Given the description of an element on the screen output the (x, y) to click on. 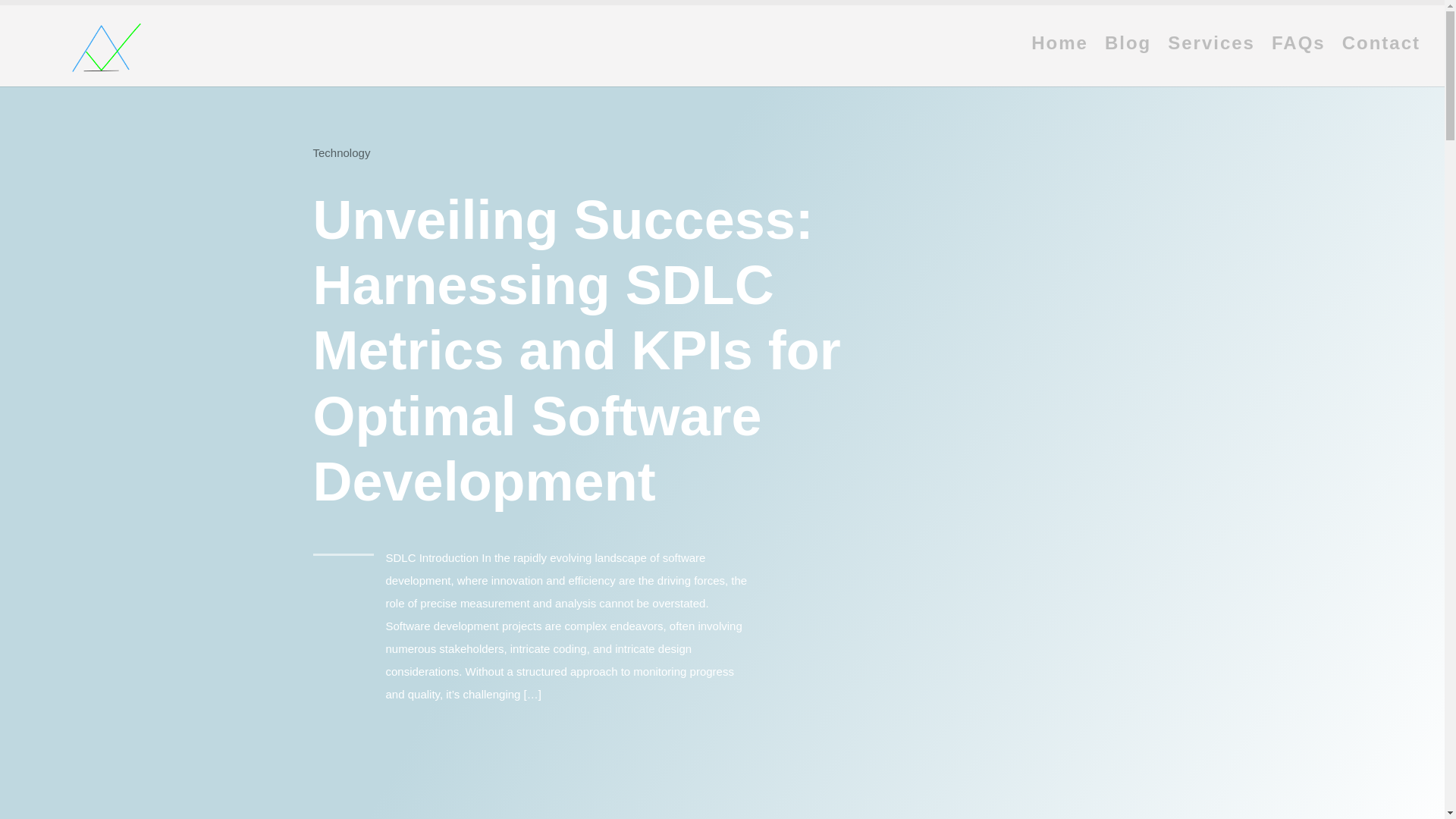
Contact (1381, 61)
Blog (1128, 61)
Services (1211, 61)
Home (1058, 61)
FAQs (1297, 61)
Technology (341, 152)
